Given the description of an element on the screen output the (x, y) to click on. 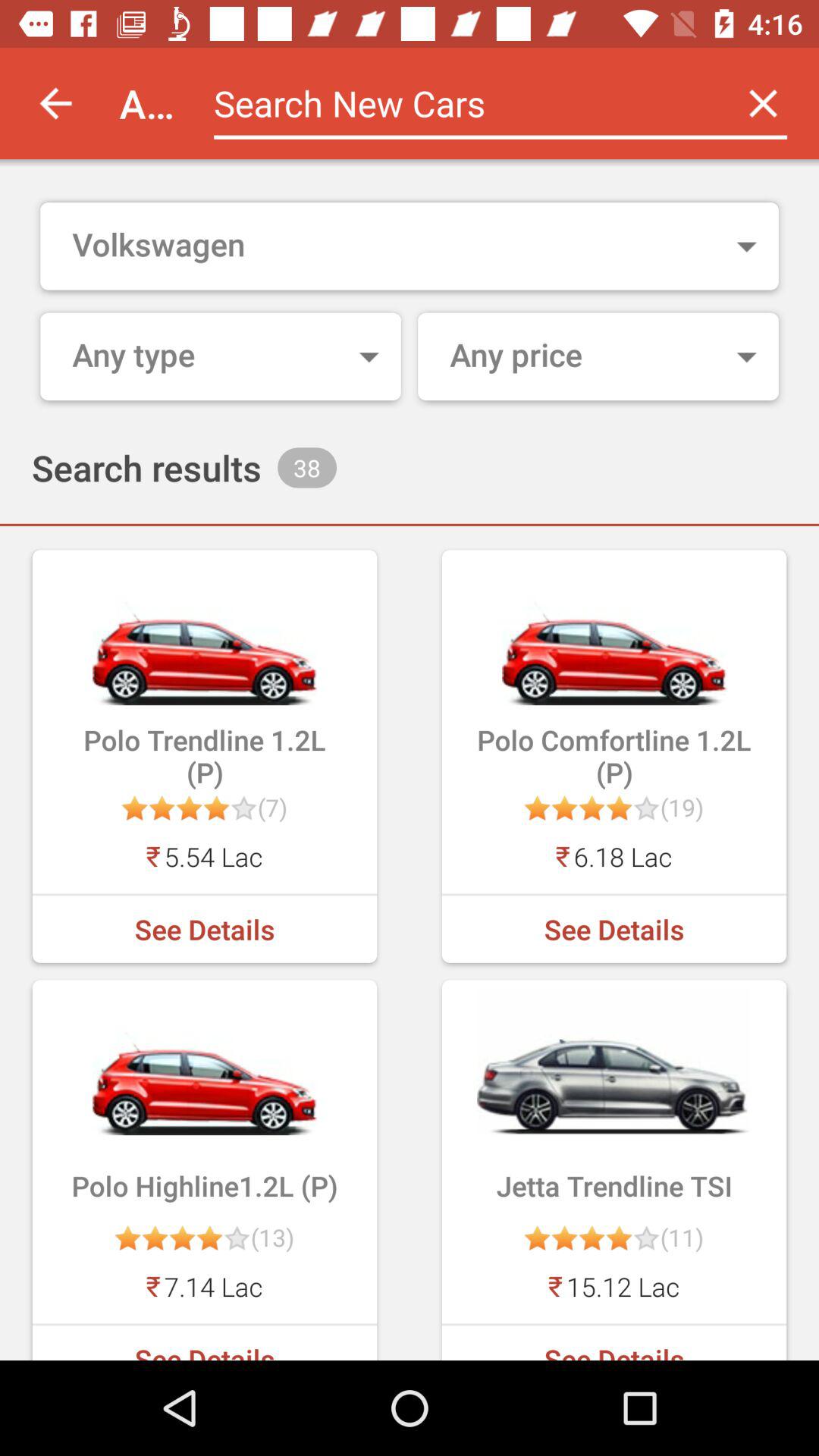
searches for information (460, 103)
